Given the description of an element on the screen output the (x, y) to click on. 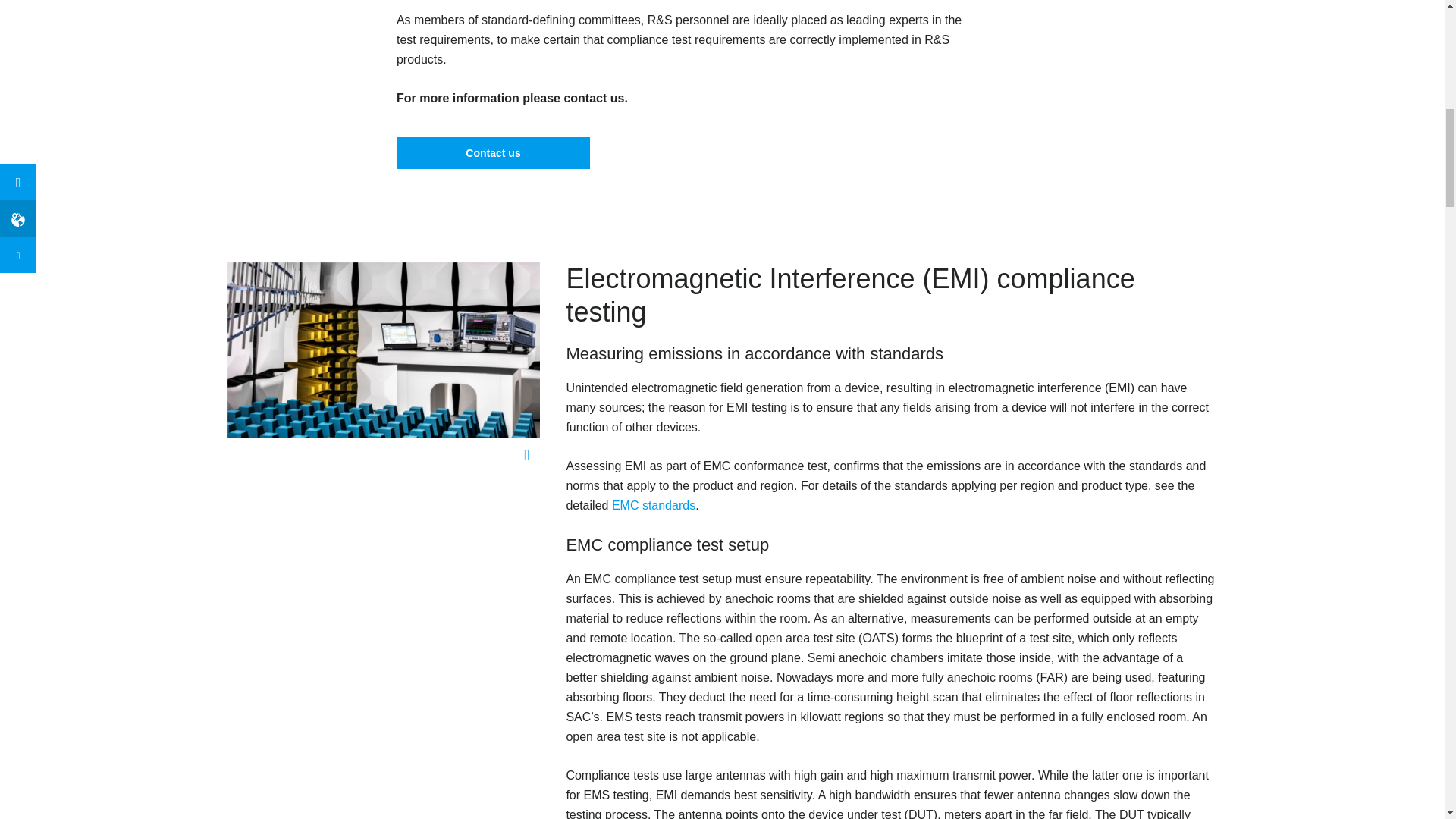
Contact us (492, 152)
EMC standards (653, 507)
